Given the description of an element on the screen output the (x, y) to click on. 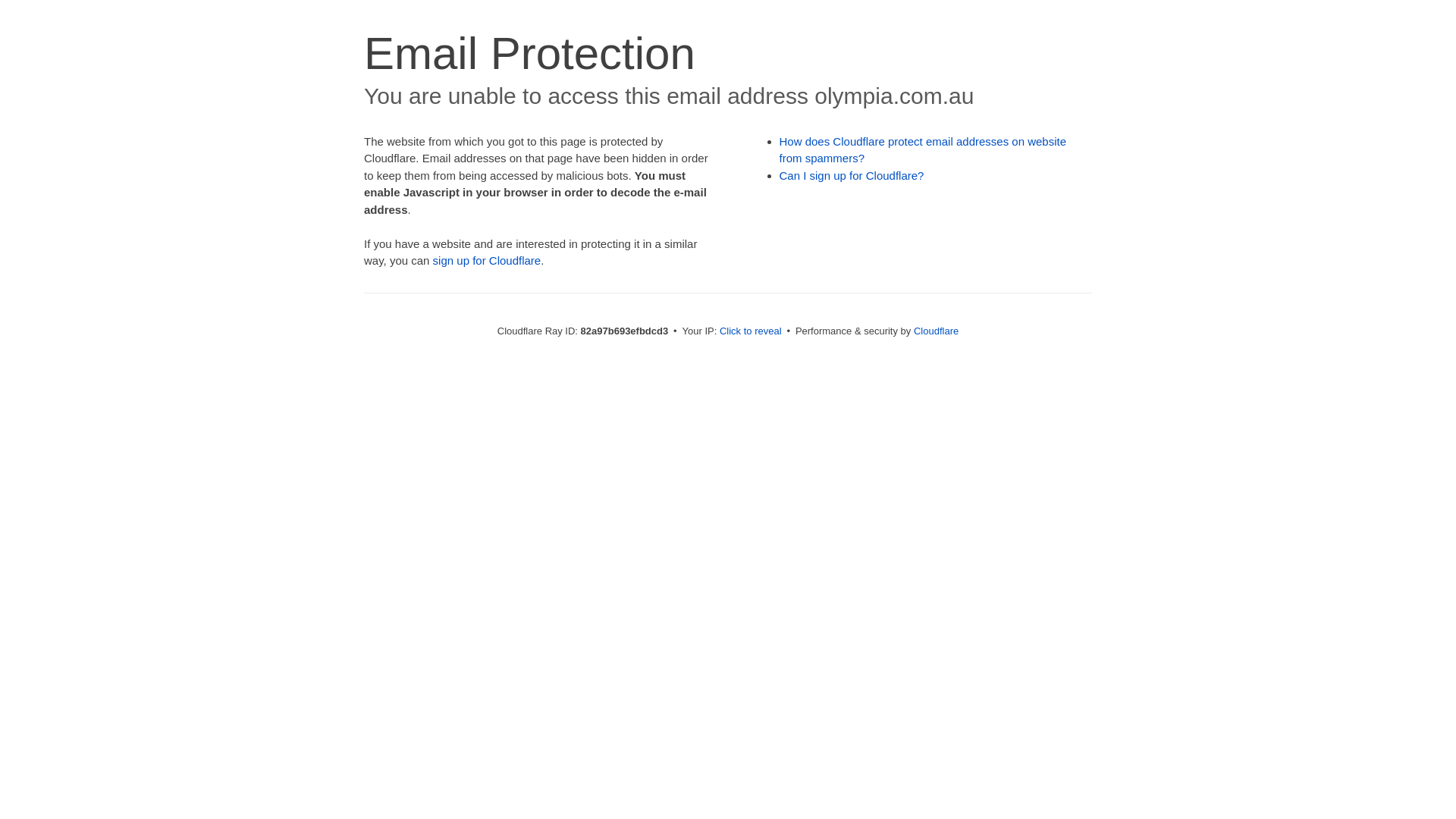
sign up for Cloudflare Element type: text (487, 260)
Click to reveal Element type: text (750, 330)
Cloudflare Element type: text (935, 330)
Can I sign up for Cloudflare? Element type: text (851, 175)
